Given the description of an element on the screen output the (x, y) to click on. 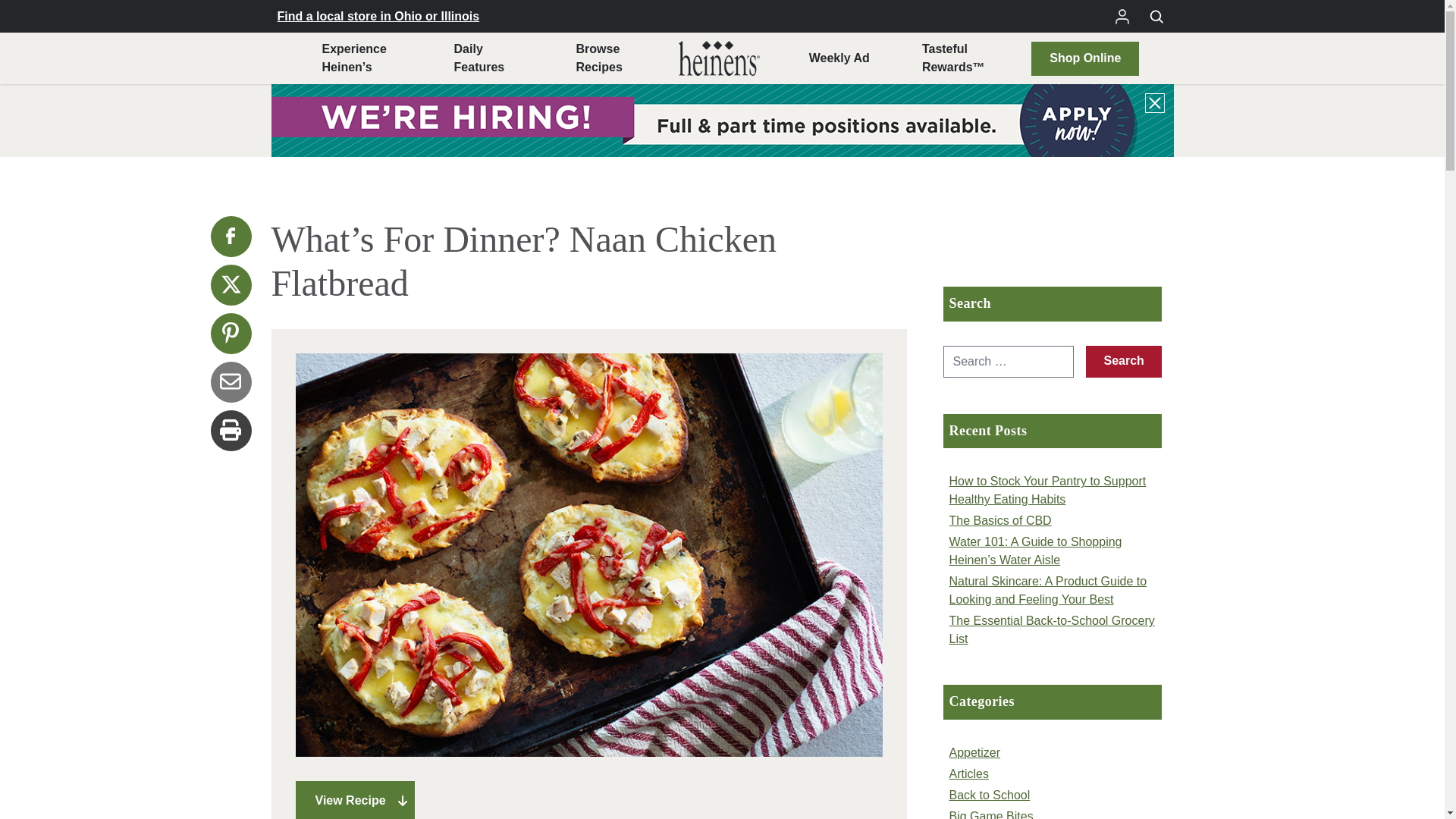
Send us an Email (231, 381)
Connect with Heinen's on X (478, 58)
Connect with Heinen's on Facebook (231, 284)
Connect with Heinen's on Pinterest (231, 236)
Weekly Ad (231, 332)
Find a local store in Ohio or Illinois (839, 58)
Print this page (379, 15)
Shop Online (598, 58)
